Given the description of an element on the screen output the (x, y) to click on. 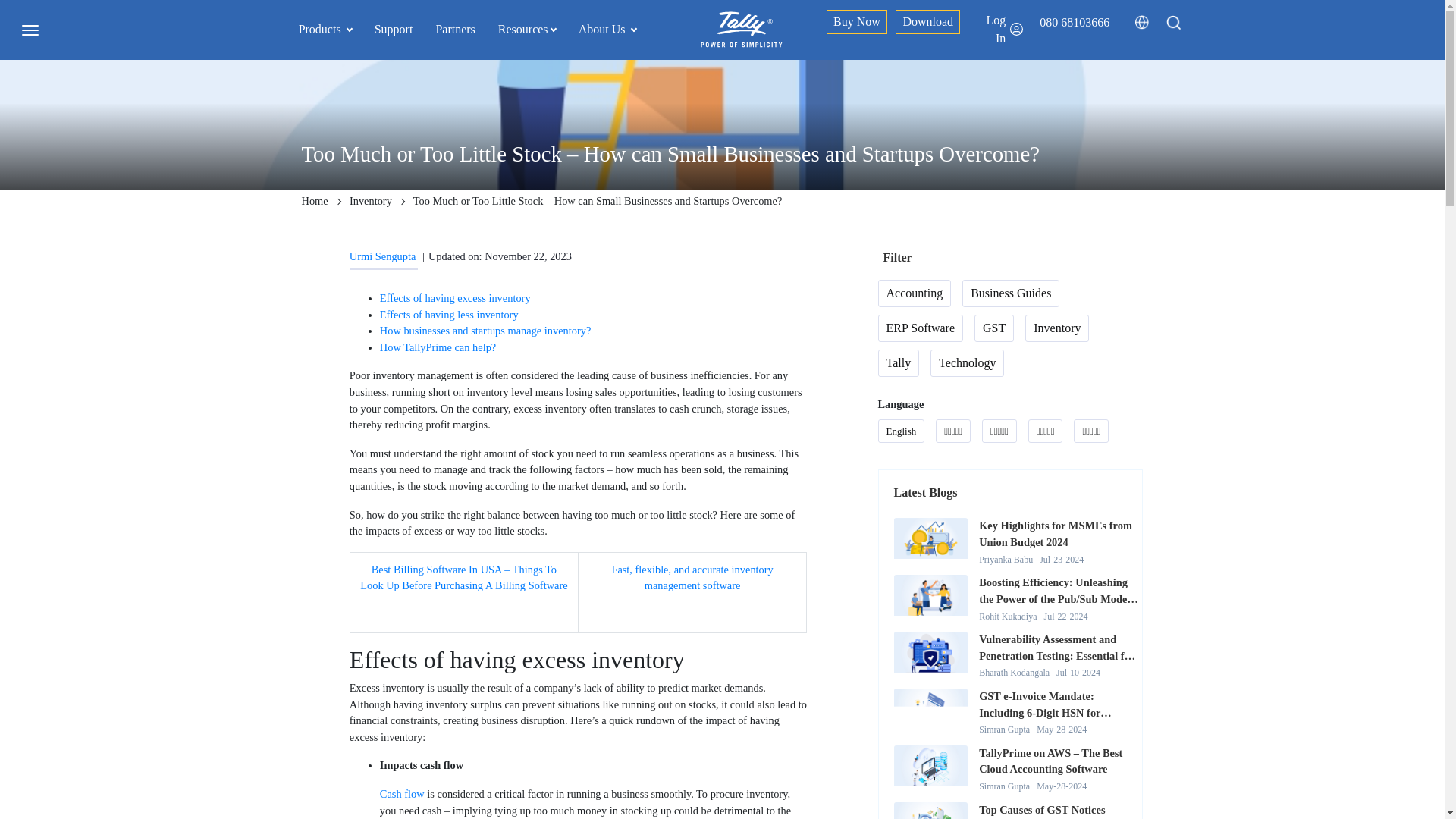
Products (324, 29)
Posts by Urmi Sengupta (382, 256)
Support (393, 29)
